Given the description of an element on the screen output the (x, y) to click on. 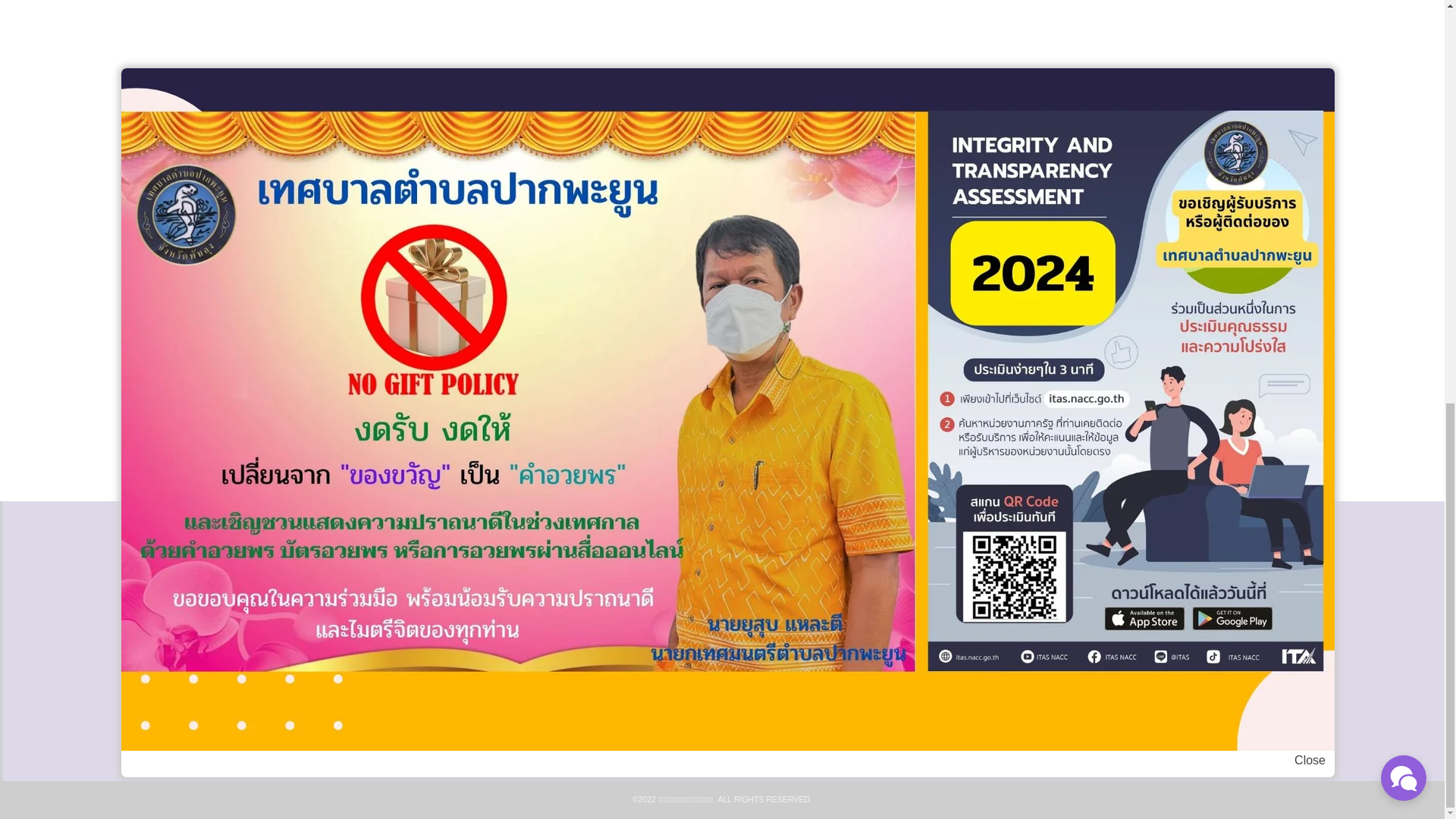
LINE icon (1013, 578)
Twitter icon (985, 578)
YouTube icon (1066, 578)
Facebook icon (958, 578)
